Given the description of an element on the screen output the (x, y) to click on. 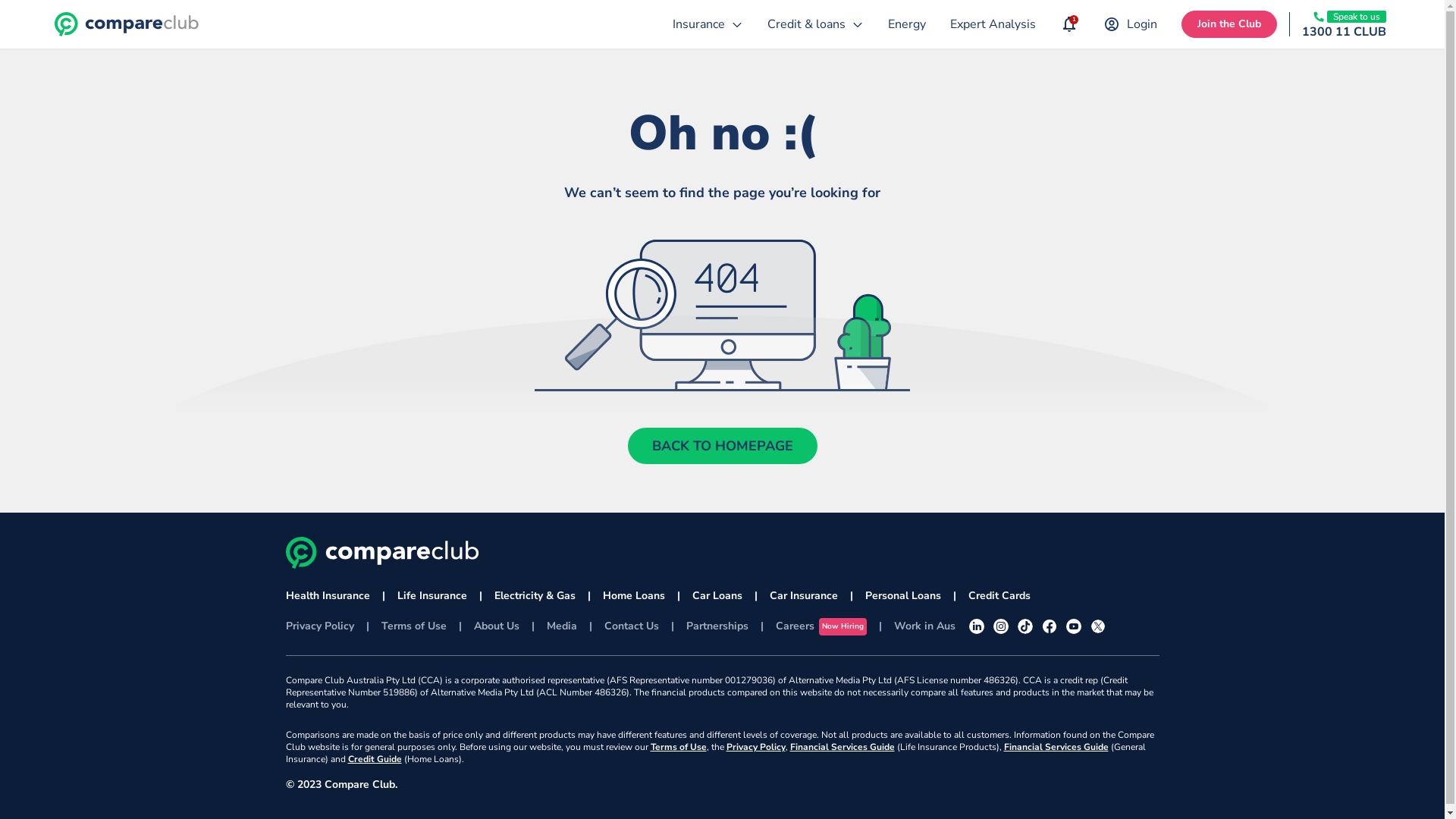
Privacy Policy Element type: text (755, 746)
Terms of Use Element type: text (678, 746)
Join the Club Element type: text (1229, 24)
Work in Aus Element type: text (924, 626)
Login Element type: text (1129, 24)
Car Insurance Element type: text (802, 595)
Expert Analysis Element type: text (993, 24)
Electricity & Gas Element type: text (534, 595)
Join the Club Element type: text (1229, 23)
Personal Loans Element type: text (902, 595)
Insurance Element type: text (707, 24)
BACK TO HOMEPAGE Element type: text (722, 445)
Media Element type: text (561, 626)
Speak to us
1300 11 CLUB Element type: text (1344, 24)
About Us Element type: text (495, 626)
Credit Cards Element type: text (998, 595)
Credit & loans Element type: text (815, 24)
Life Insurance Element type: text (432, 595)
Partnerships Element type: text (716, 626)
Financial Services Guide Element type: text (1056, 746)
Home Loans Element type: text (633, 595)
Contact Us Element type: text (630, 626)
Credit Guide Element type: text (374, 759)
Energy Element type: text (906, 24)
1 Element type: text (1069, 24)
Privacy Policy Element type: text (319, 626)
Health Insurance Element type: text (327, 595)
Financial Services Guide Element type: text (842, 746)
Car Loans Element type: text (716, 595)
Careers Element type: text (794, 626)
Terms of Use Element type: text (412, 626)
